Given the description of an element on the screen output the (x, y) to click on. 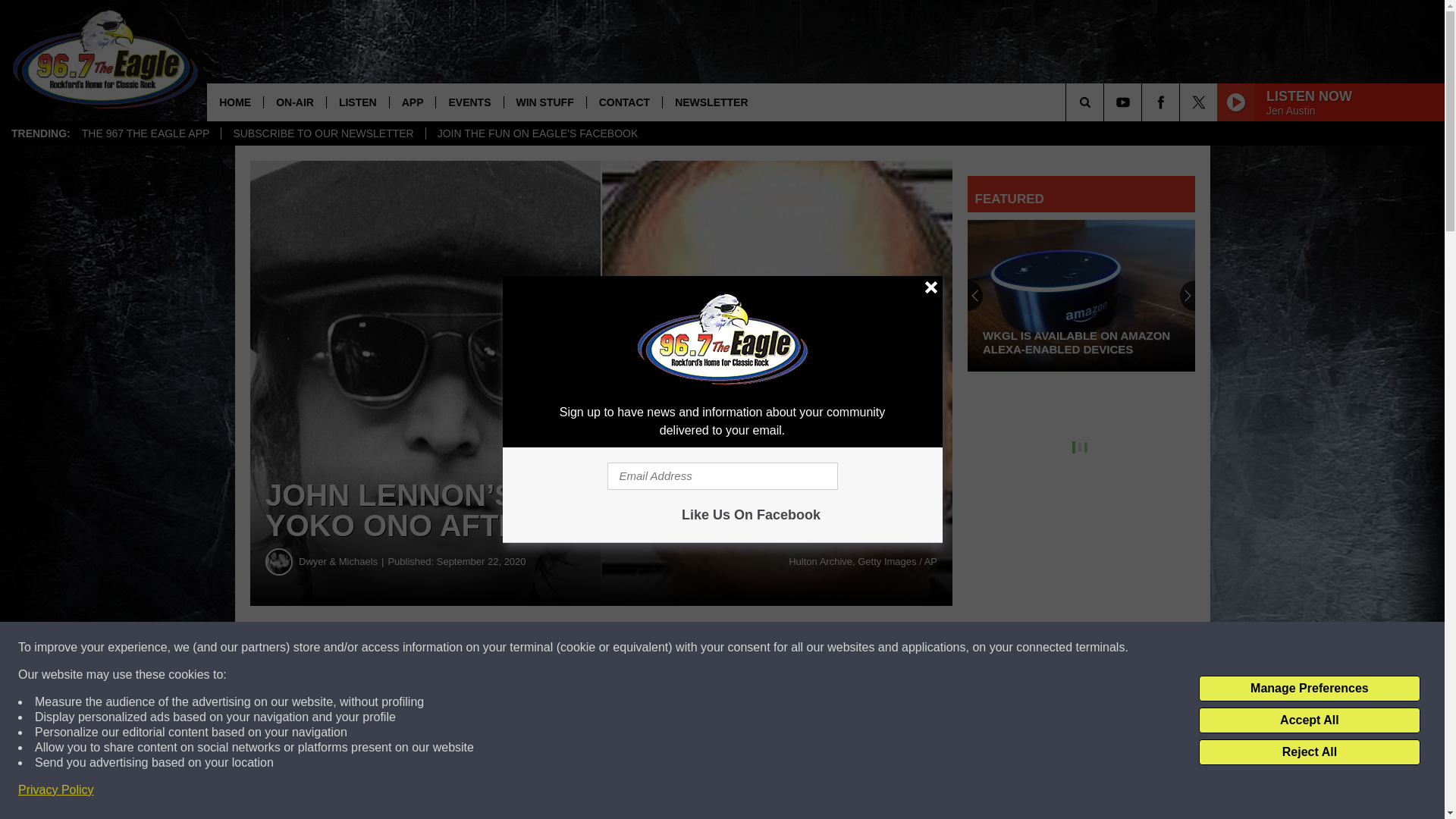
LISTEN (357, 102)
WIN STUFF (544, 102)
Share on Twitter (741, 647)
SEARCH (1106, 102)
SUBSCRIBE TO OUR NEWSLETTER (323, 133)
Share on Facebook (460, 647)
Privacy Policy (55, 789)
APP (411, 102)
Reject All (1309, 751)
Accept All (1309, 720)
HOME (234, 102)
JOIN THE FUN ON EAGLE'S FACEBOOK (537, 133)
NEWSLETTER (711, 102)
CONTACT (624, 102)
Email Address (722, 475)
